Given the description of an element on the screen output the (x, y) to click on. 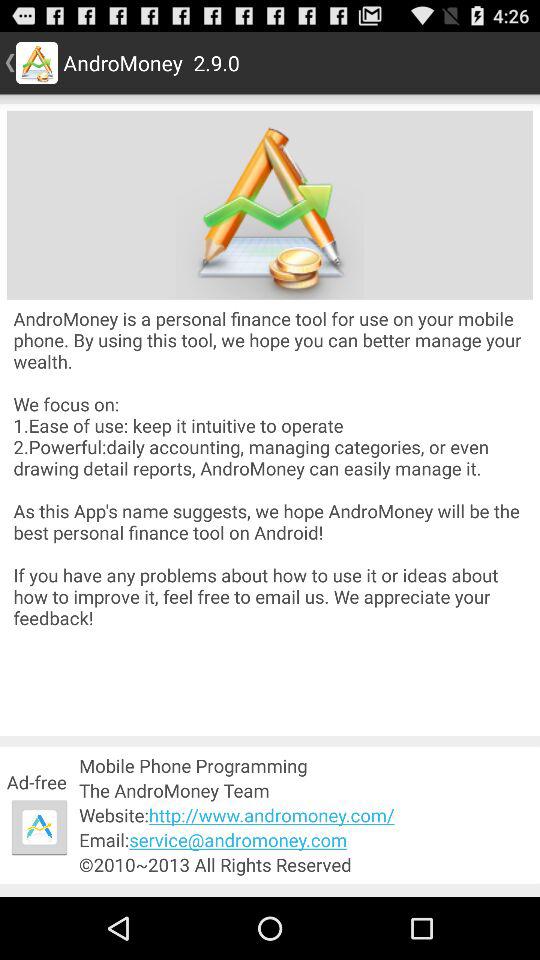
select email service andromoney (306, 839)
